Given the description of an element on the screen output the (x, y) to click on. 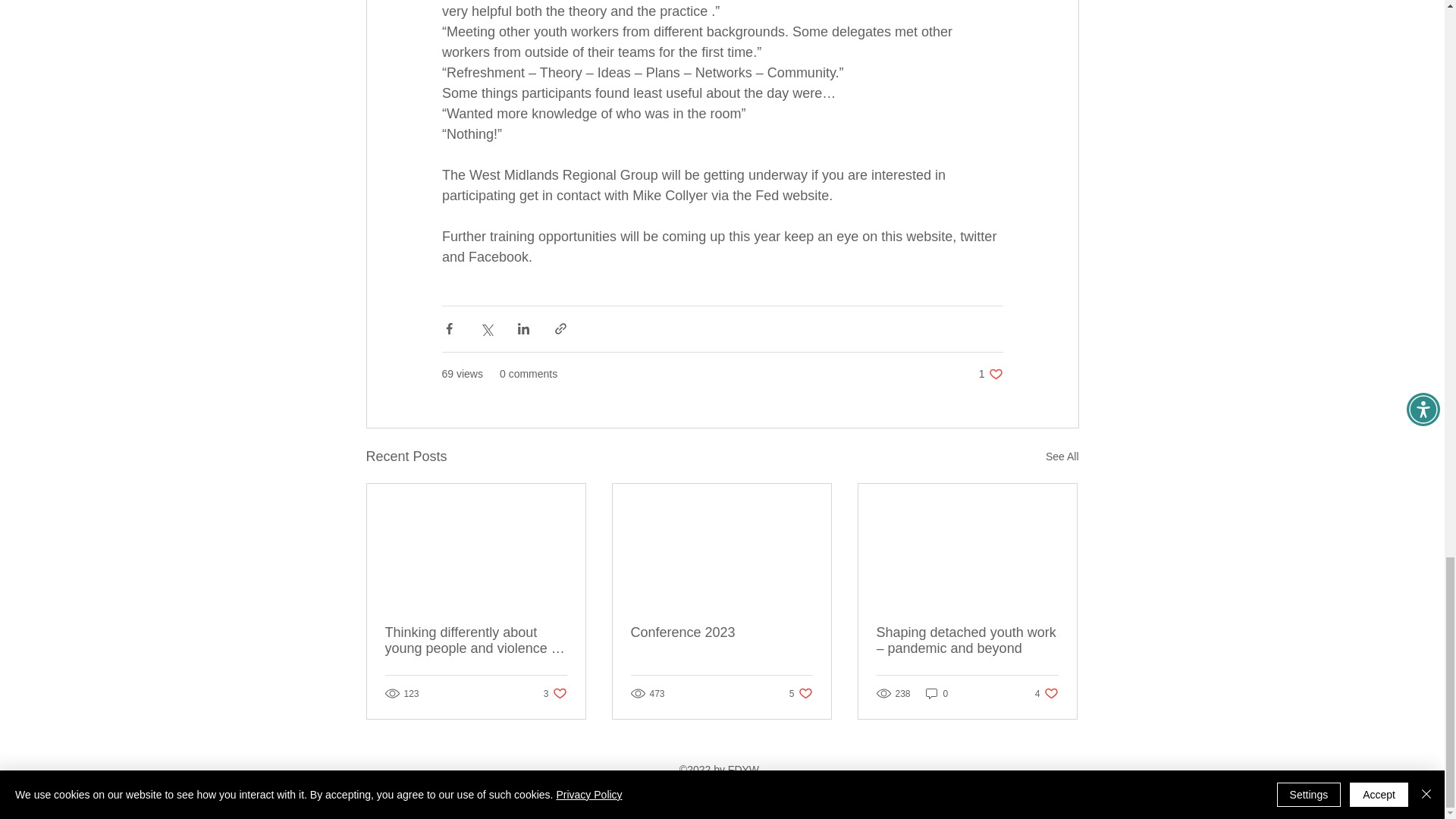
Thinking differently about young people and violence -FDYW (476, 640)
Conference 2023 (721, 632)
0 (937, 693)
See All (1046, 693)
